Given the description of an element on the screen output the (x, y) to click on. 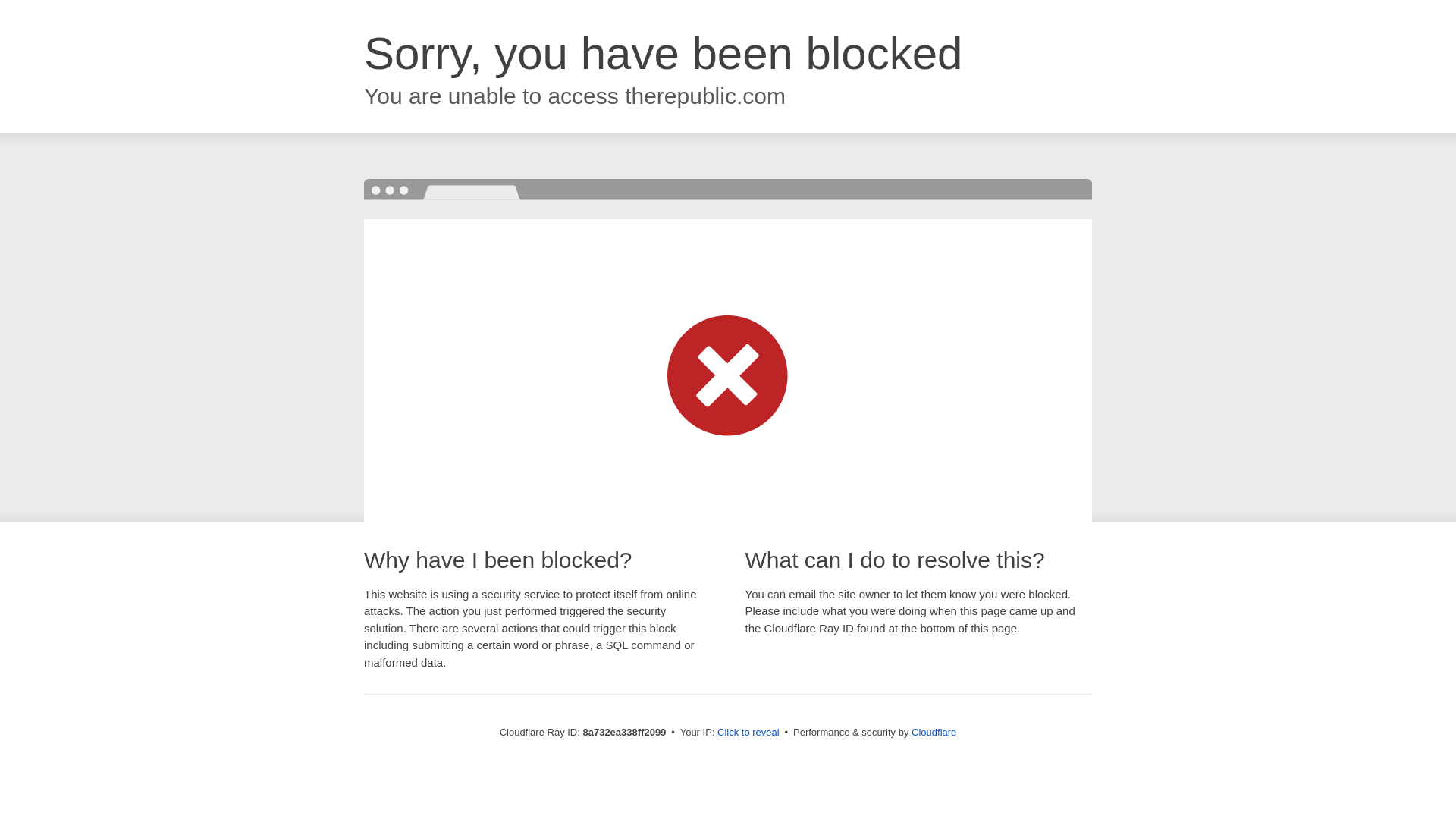
Click to reveal (747, 732)
Cloudflare (933, 731)
